Given the description of an element on the screen output the (x, y) to click on. 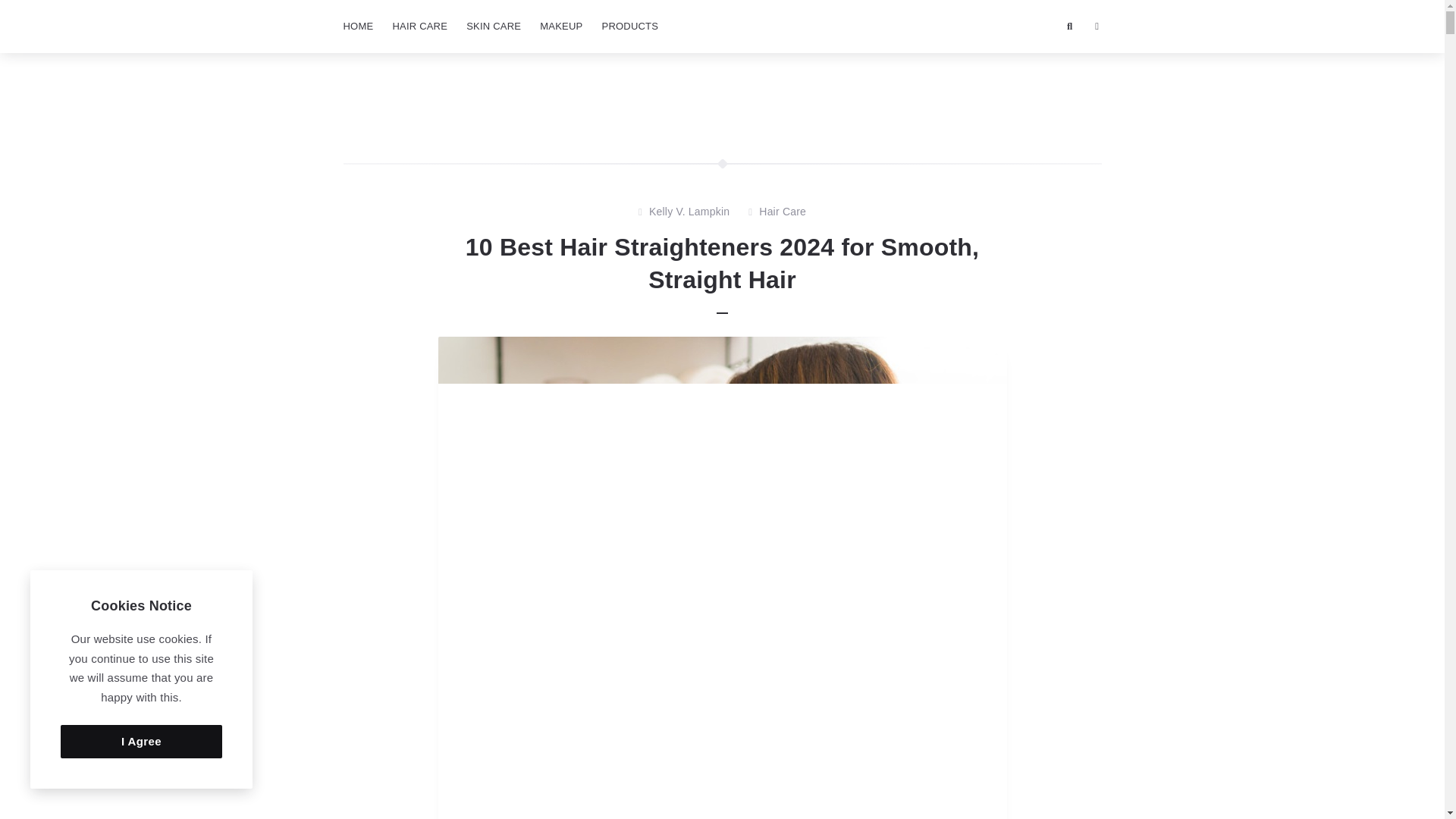
HOME (357, 26)
MAKEUP (561, 26)
Kelly V. Lampkin (689, 212)
HAIR CARE (419, 26)
PRODUCTS (630, 26)
Hair Care (782, 212)
SKIN CARE (493, 26)
